Given the description of an element on the screen output the (x, y) to click on. 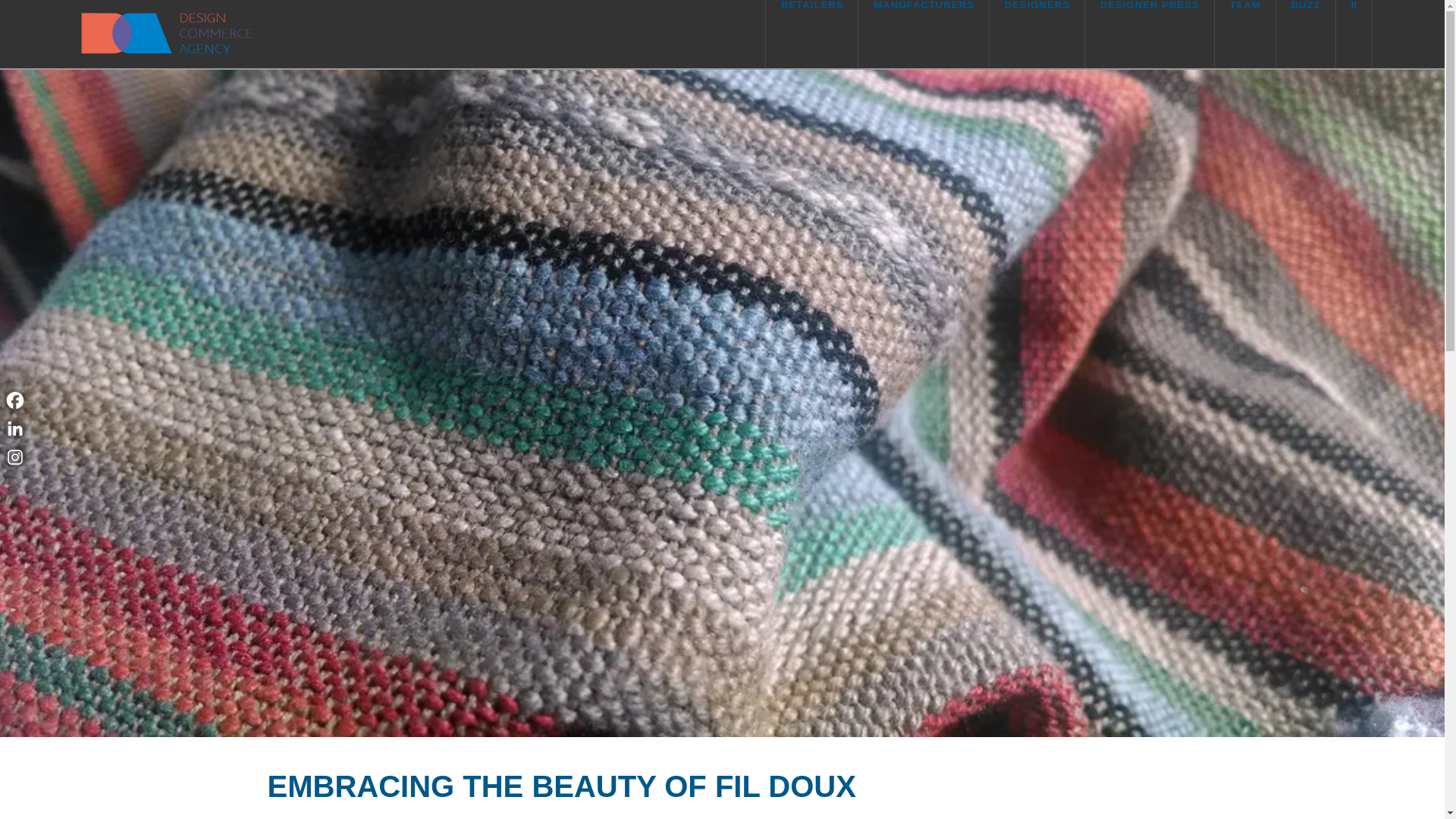
MANUFACTURERS (923, 33)
DESIGNERS (1037, 33)
RETAILERS (812, 33)
Linkedin (15, 427)
DESIGNER PRESS (1149, 33)
Facebook (15, 400)
Instagram (15, 456)
TEAM (1245, 33)
